Given the description of an element on the screen output the (x, y) to click on. 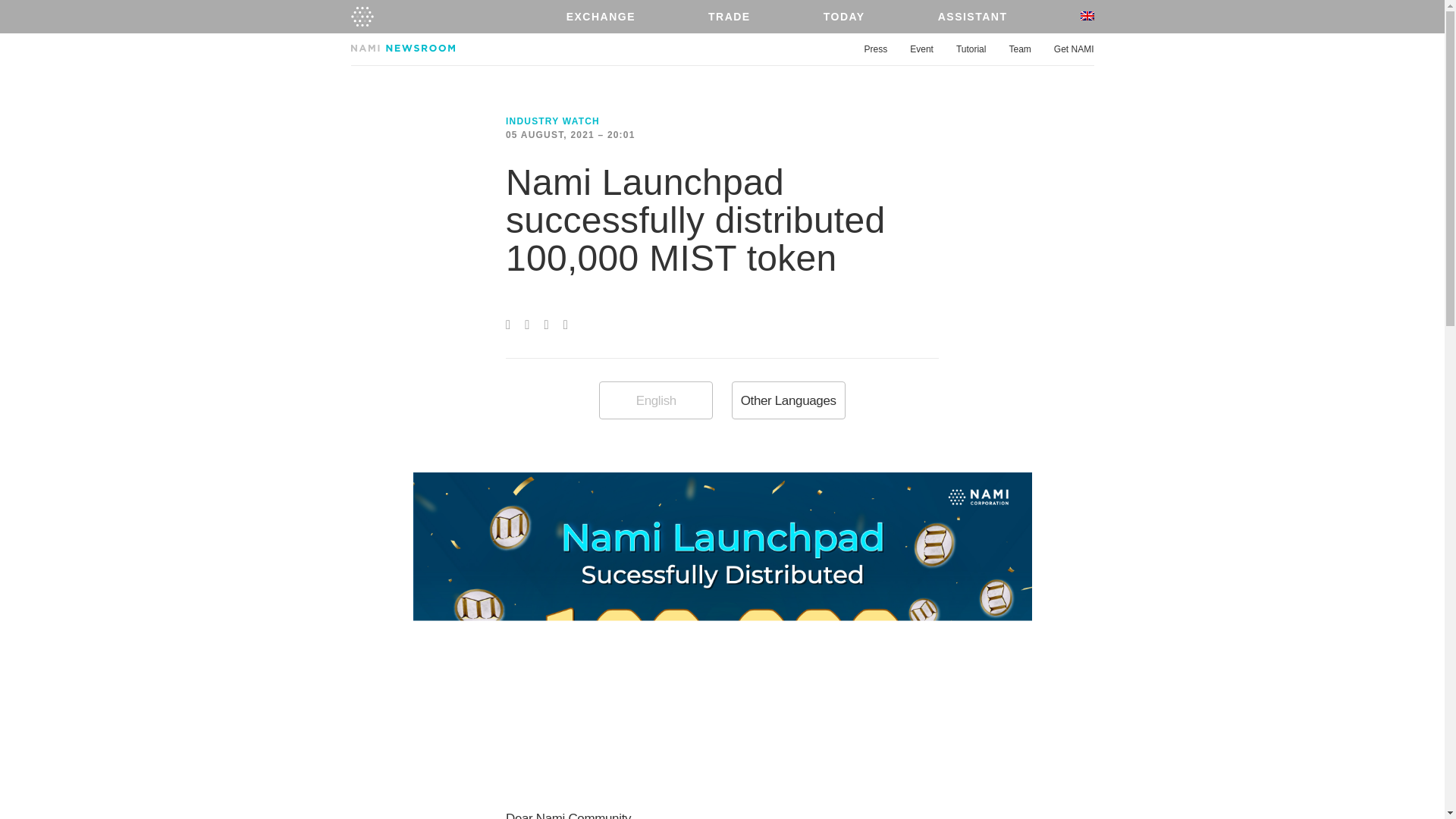
ASSISTANT (972, 16)
Other Languages (788, 400)
Get NAMI (1074, 49)
TRADE (729, 16)
English (655, 400)
Tutorial (971, 49)
EXCHANGE (601, 16)
TODAY (843, 16)
